Given the description of an element on the screen output the (x, y) to click on. 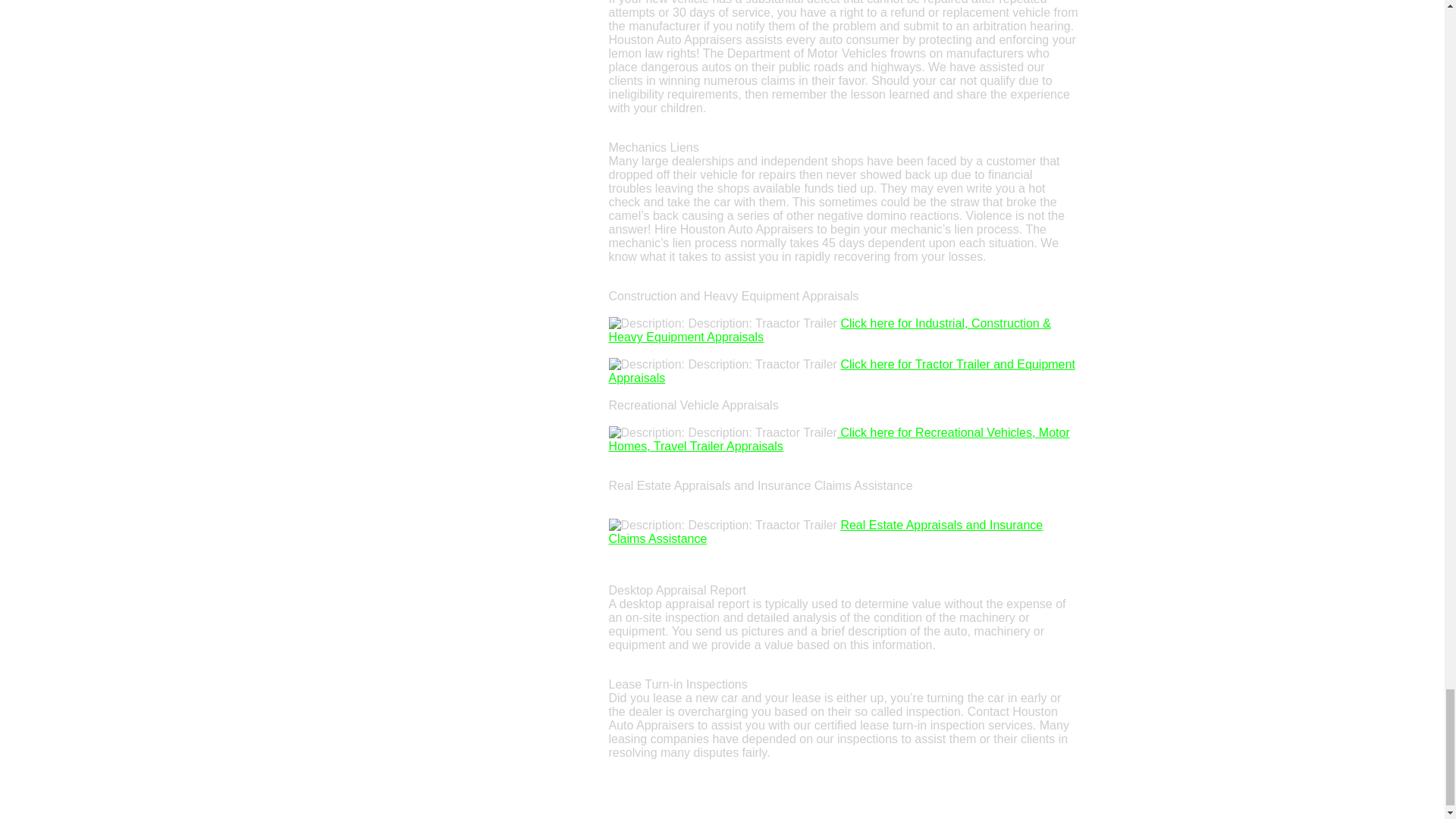
Real Estate Appraisals and Insurance Claims Assistance (825, 531)
Click here for Tractor Trailer and Equipment Appraisals (841, 370)
